Given the description of an element on the screen output the (x, y) to click on. 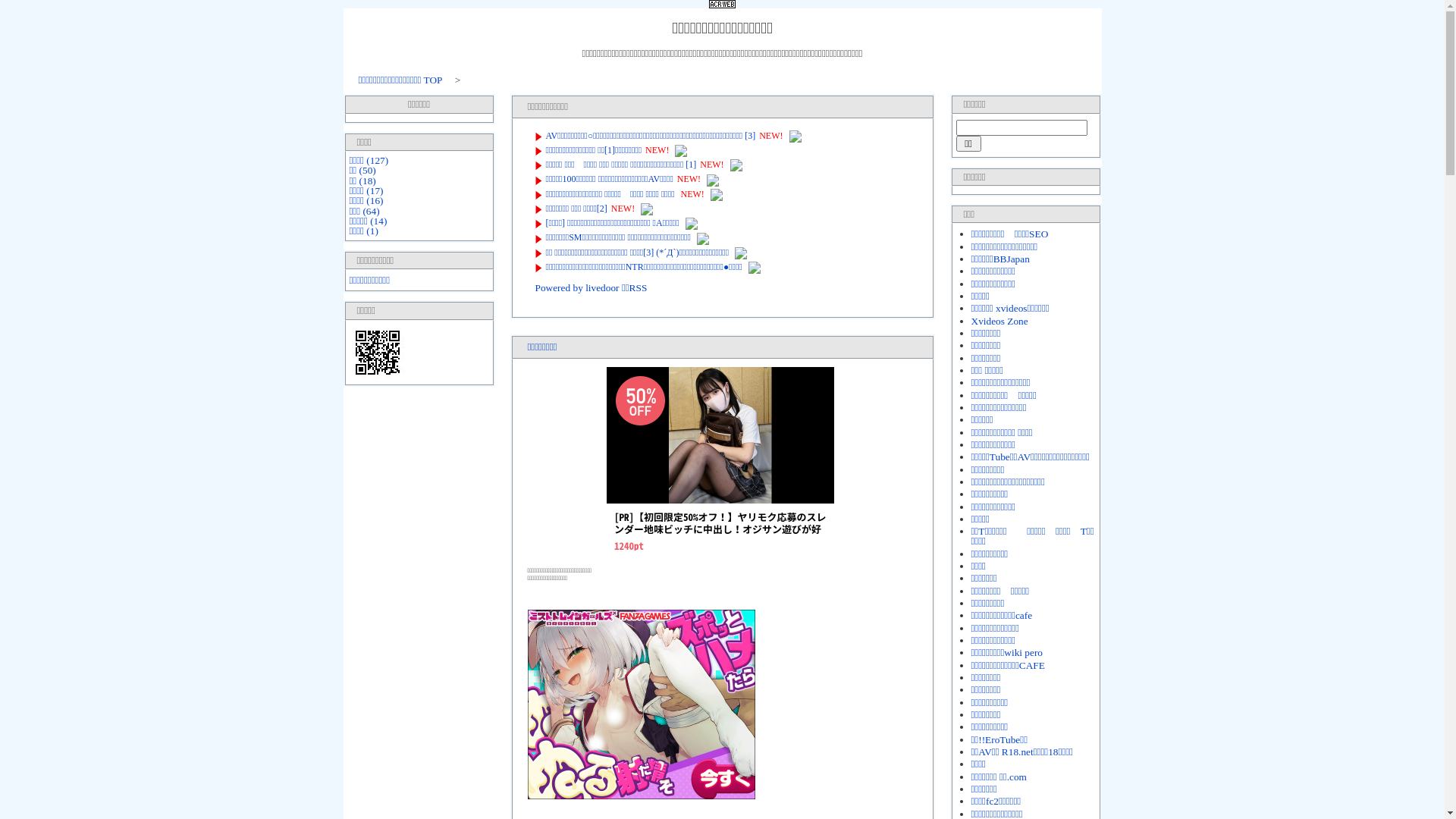
Xvideos Zone Element type: text (998, 320)
